Given the description of an element on the screen output the (x, y) to click on. 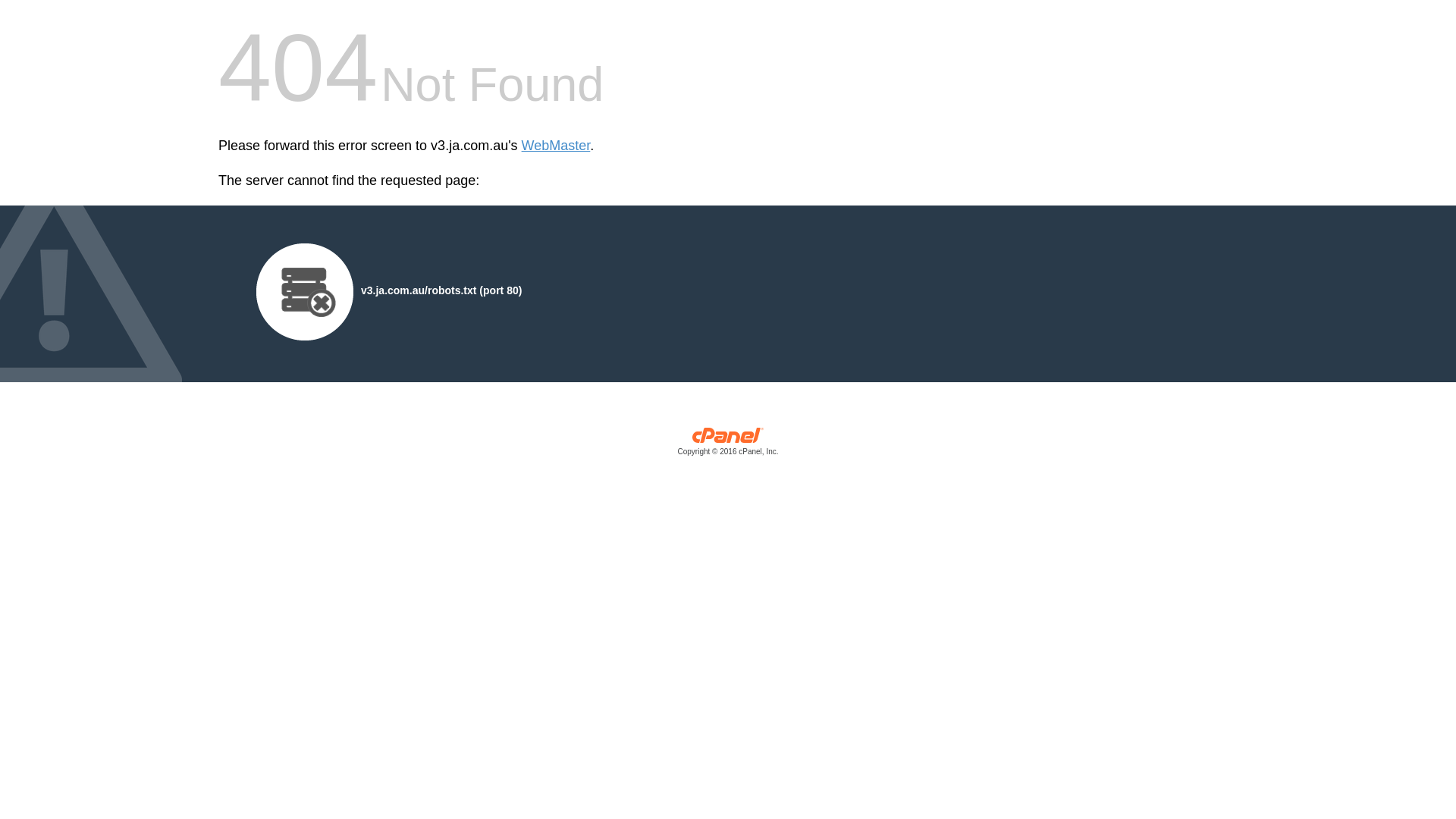
WebMaster Element type: text (555, 145)
